Given the description of an element on the screen output the (x, y) to click on. 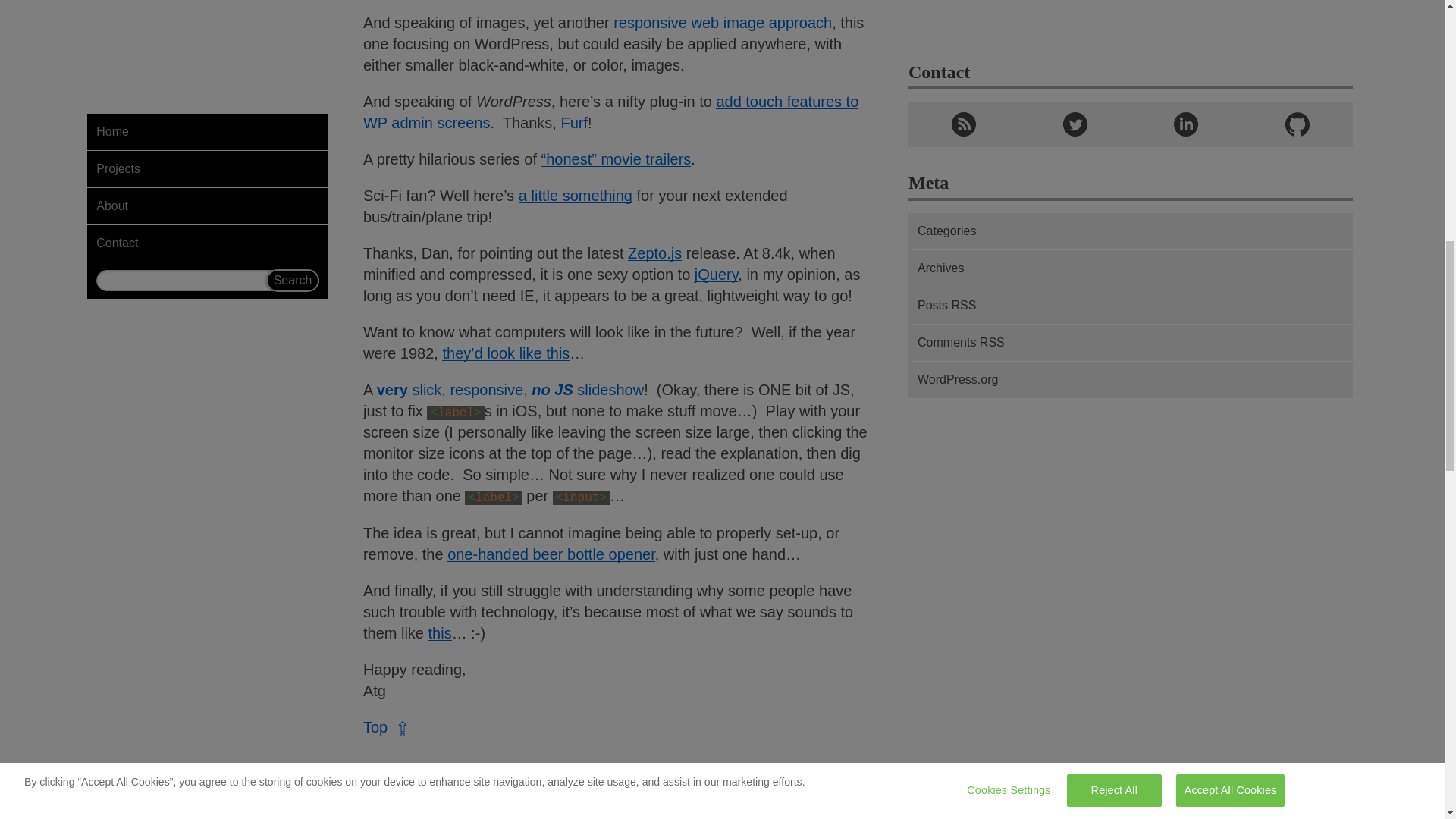
very slick, responsive, no JS slideshow (510, 389)
responsive web image approach (721, 22)
jQuery (716, 274)
add touch features to WP admin screens (610, 112)
this (439, 632)
a little something (574, 195)
Zepto.js (654, 252)
one-handed beer bottle opener (550, 554)
Jump to top of page (386, 726)
Furf (574, 122)
